Given the description of an element on the screen output the (x, y) to click on. 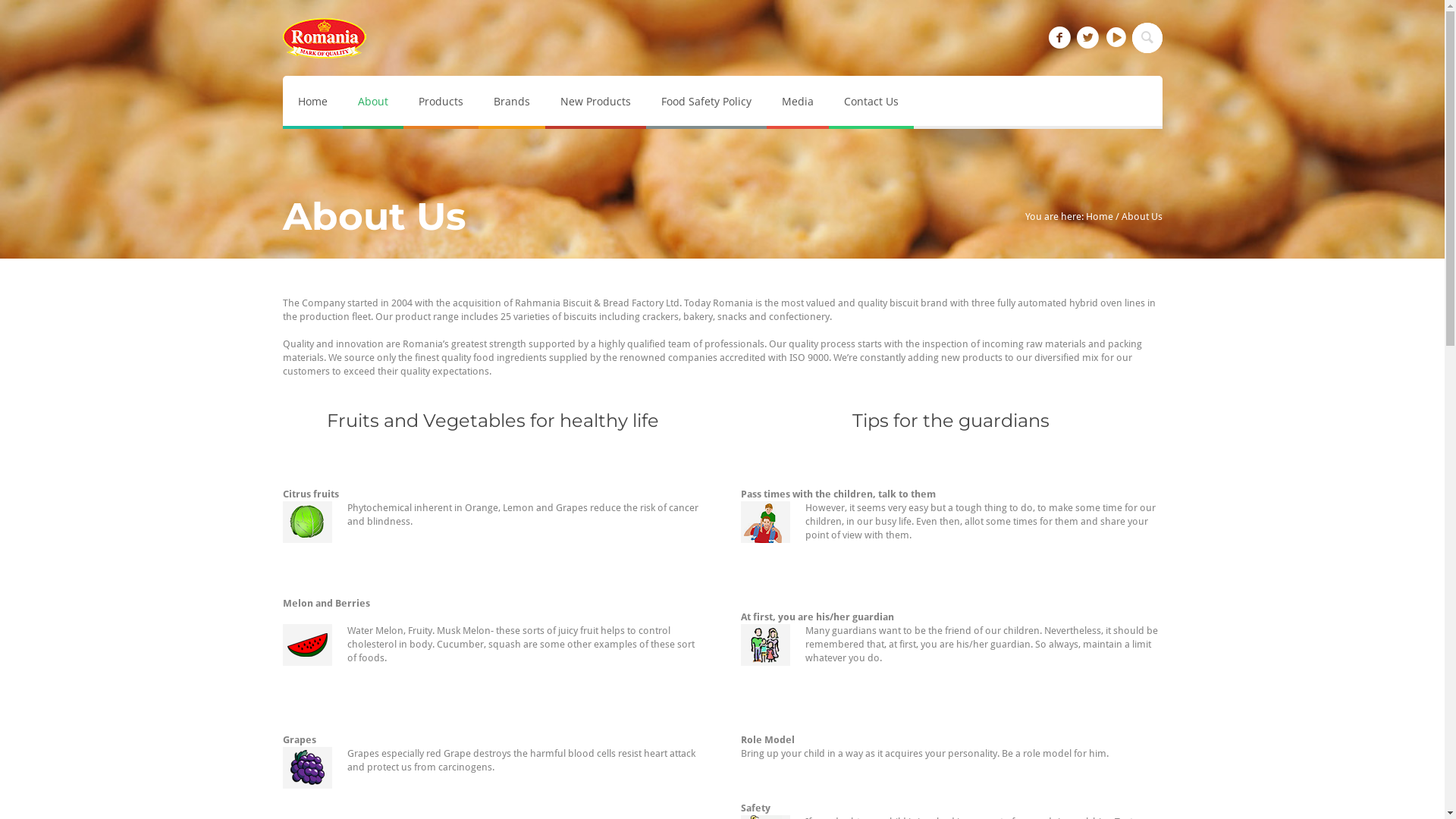
Contact Us Element type: text (870, 101)
Media Element type: text (796, 101)
About Element type: text (372, 101)
Twitter Element type: hover (1087, 37)
Food Safety Policy Element type: text (706, 101)
Brands Element type: text (510, 101)
Home Element type: text (312, 101)
Products Element type: text (440, 101)
YouTube Element type: hover (1115, 37)
Home Element type: text (1099, 216)
Facebook Element type: hover (1059, 37)
New Products Element type: text (594, 101)
